Given the description of an element on the screen output the (x, y) to click on. 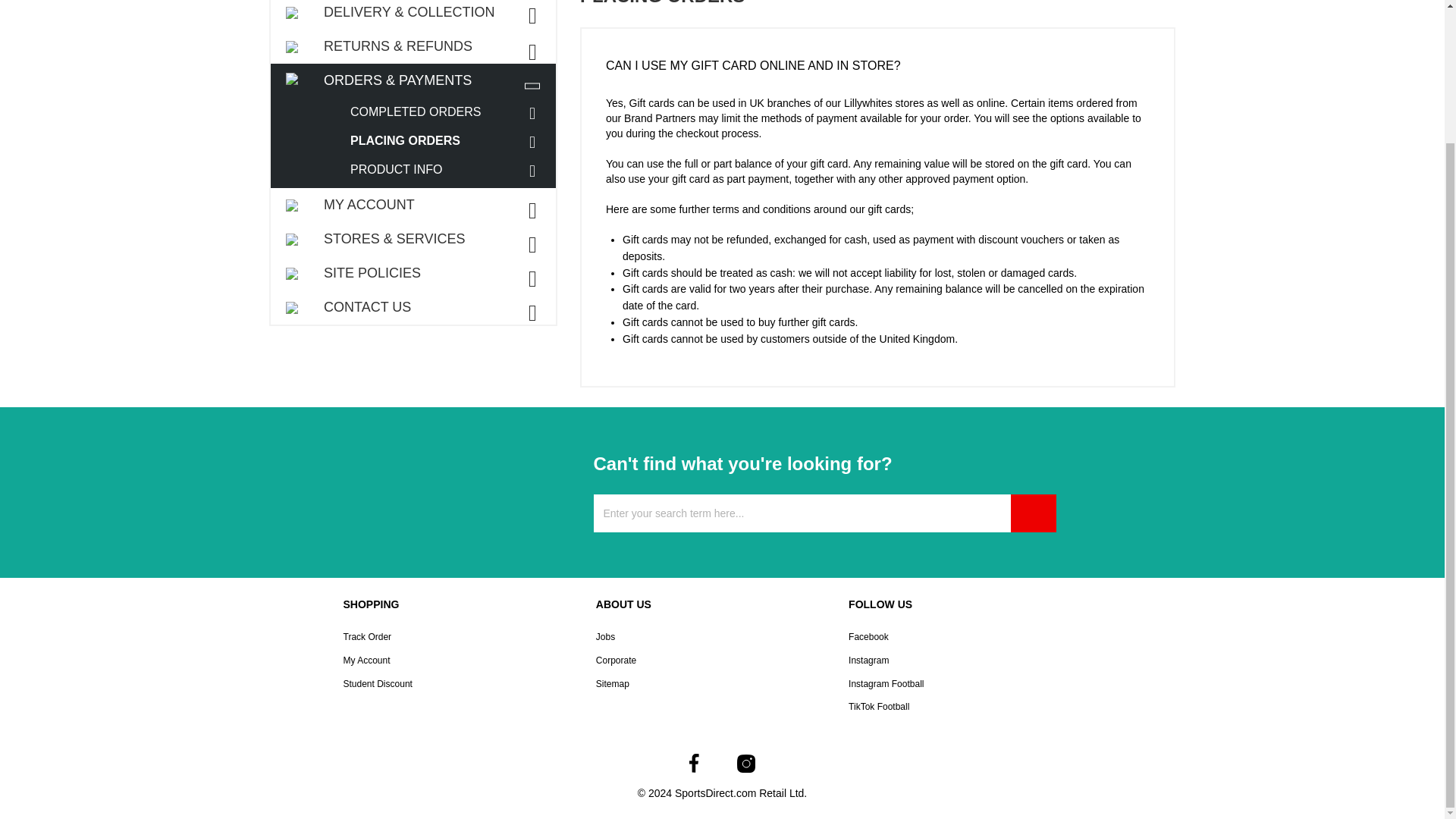
PLACING ORDERS (449, 140)
MY ACCOUNT (413, 204)
COMPLETED ORDERS (449, 111)
SITE POLICIES (413, 273)
CAN I USE MY GIFT CARD ONLINE AND IN STORE? (876, 61)
CONTACT US (413, 307)
PRODUCT INFO (449, 169)
